Given the description of an element on the screen output the (x, y) to click on. 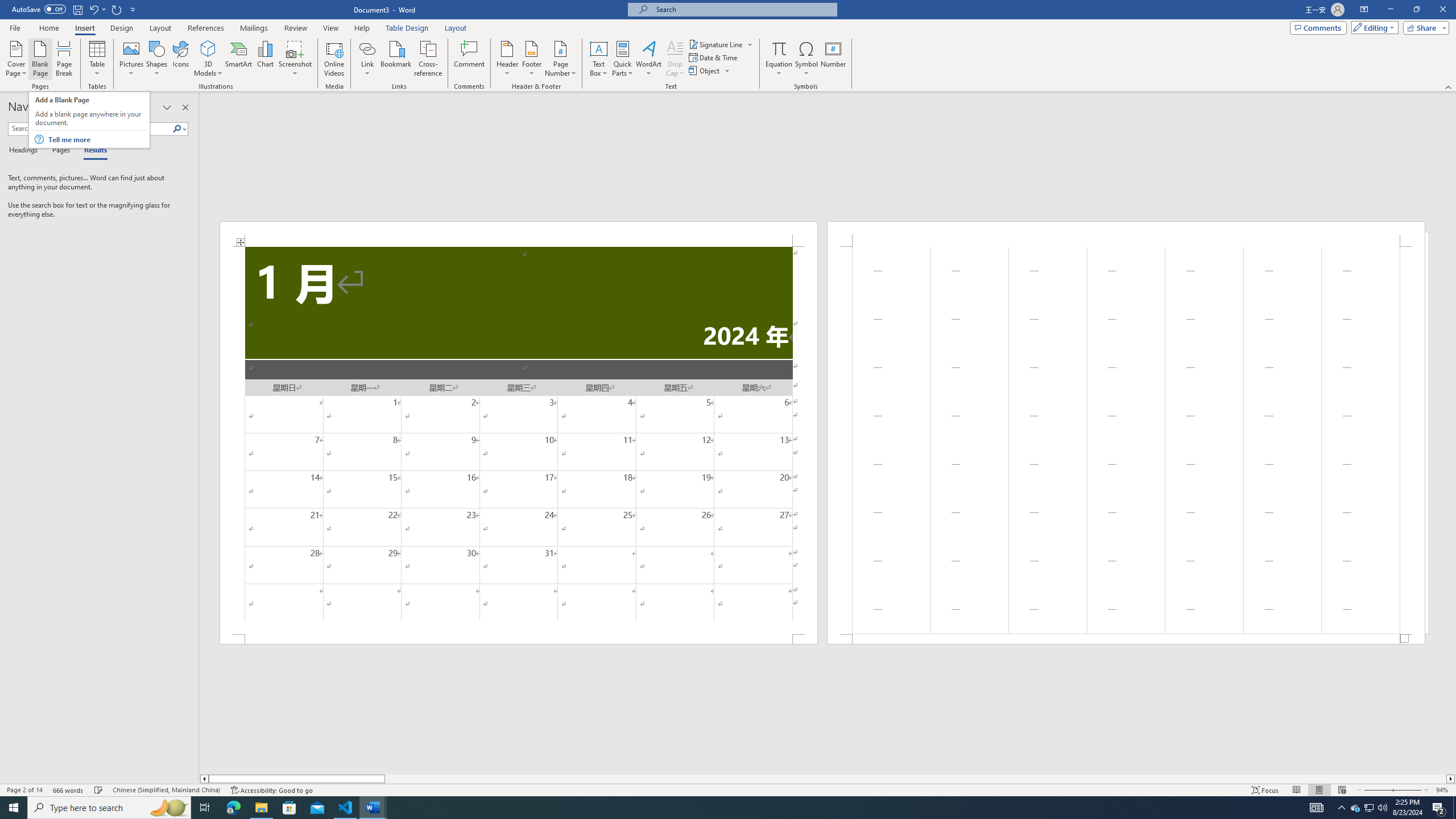
Drop Cap (674, 58)
Footer -Section 1- (1126, 638)
SmartArt... (238, 58)
Page Break (63, 58)
Equation (778, 48)
Link (367, 58)
Text Box (598, 58)
